Given the description of an element on the screen output the (x, y) to click on. 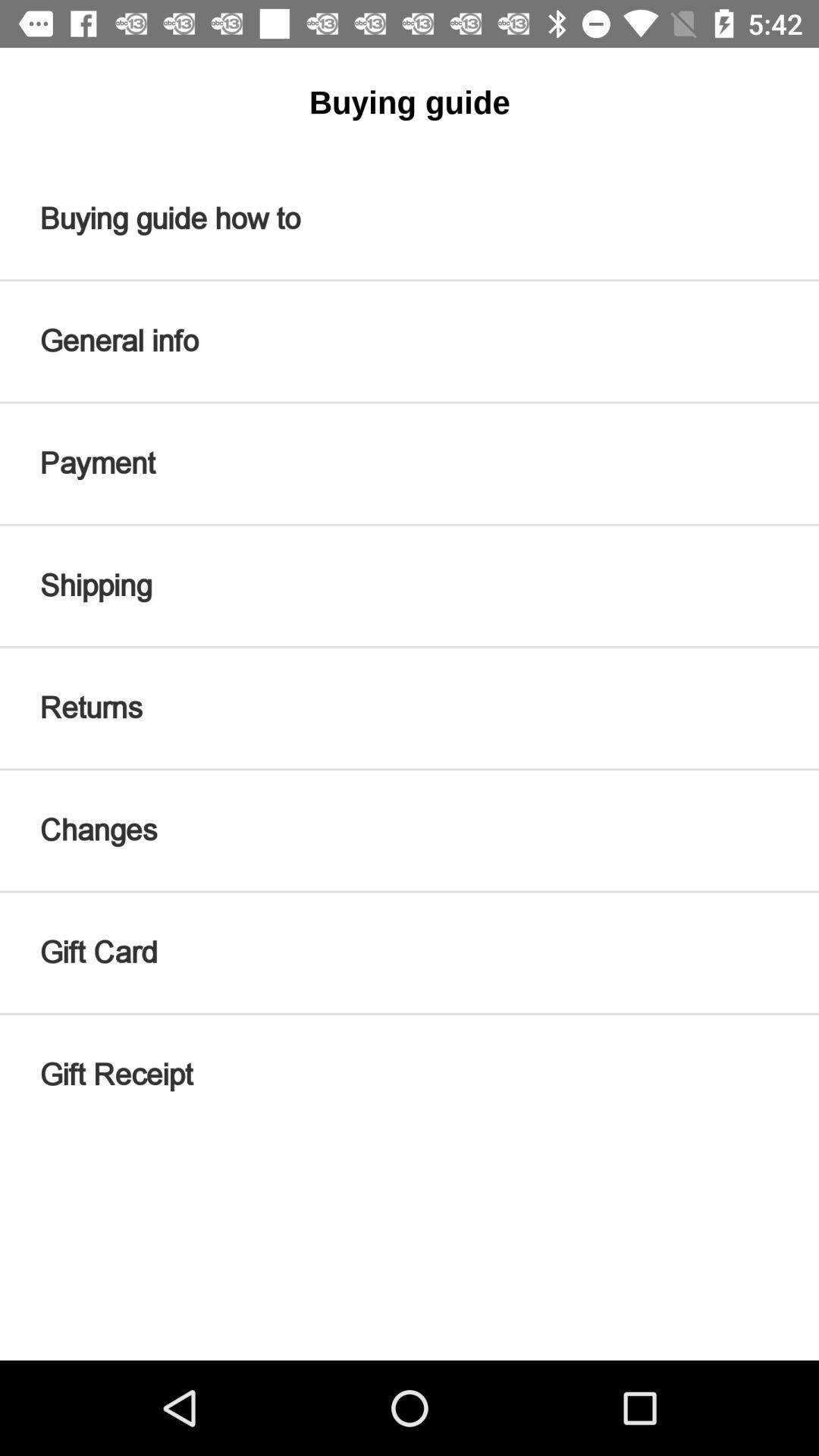
choose the icon above shipping icon (409, 463)
